Given the description of an element on the screen output the (x, y) to click on. 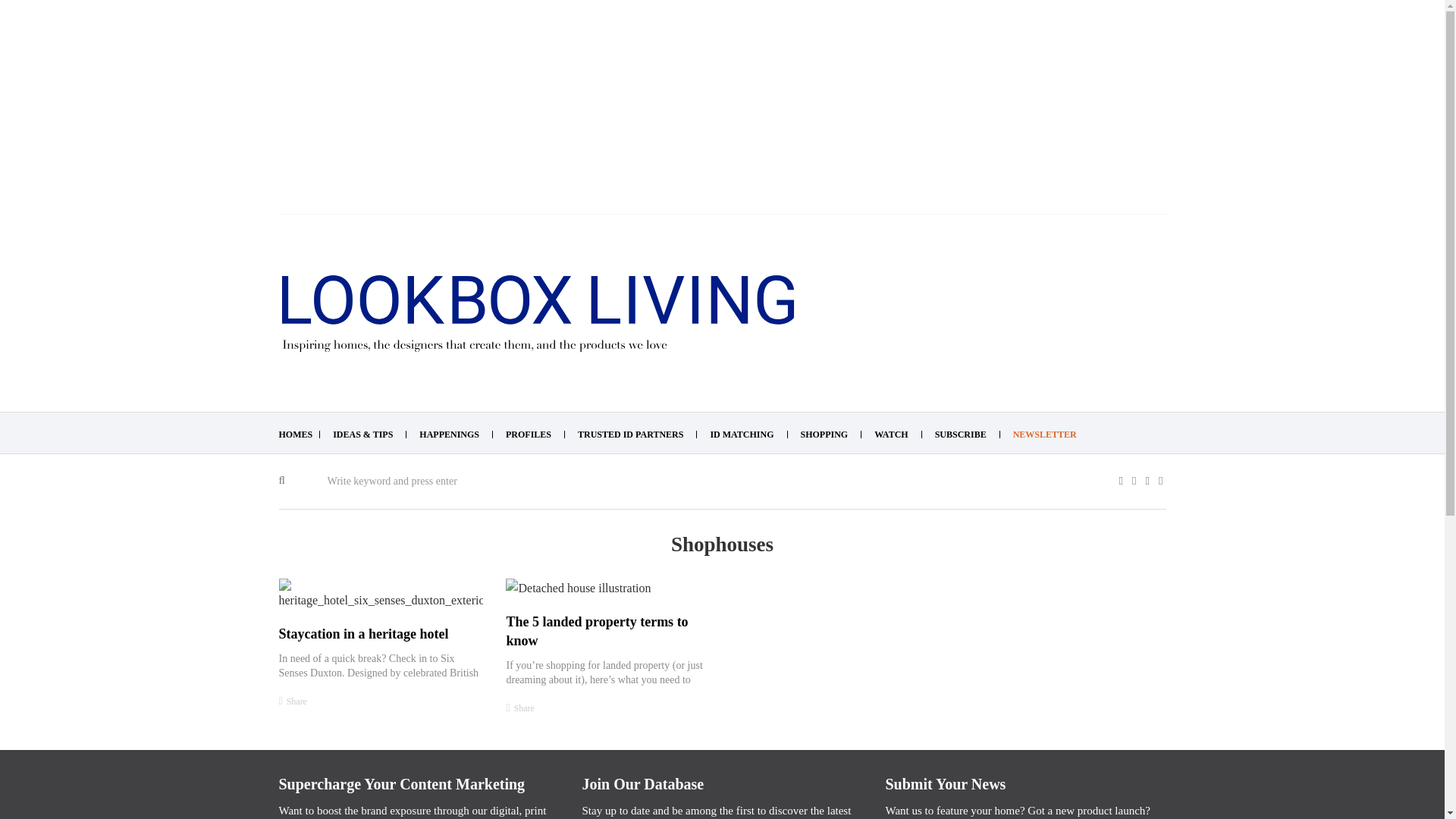
WATCH (891, 434)
PROFILES (528, 434)
SUBSCRIBE (960, 434)
The 5 landed property terms to know (596, 631)
NEWSLETTER (1045, 434)
ID MATCHING (741, 434)
HAPPENINGS (449, 434)
TRUSTED ID PARTNERS (630, 434)
Lookbox Living (537, 313)
HOMES (296, 434)
Staycation in a heritage hotel (363, 633)
SHOPPING (824, 434)
